Given the description of an element on the screen output the (x, y) to click on. 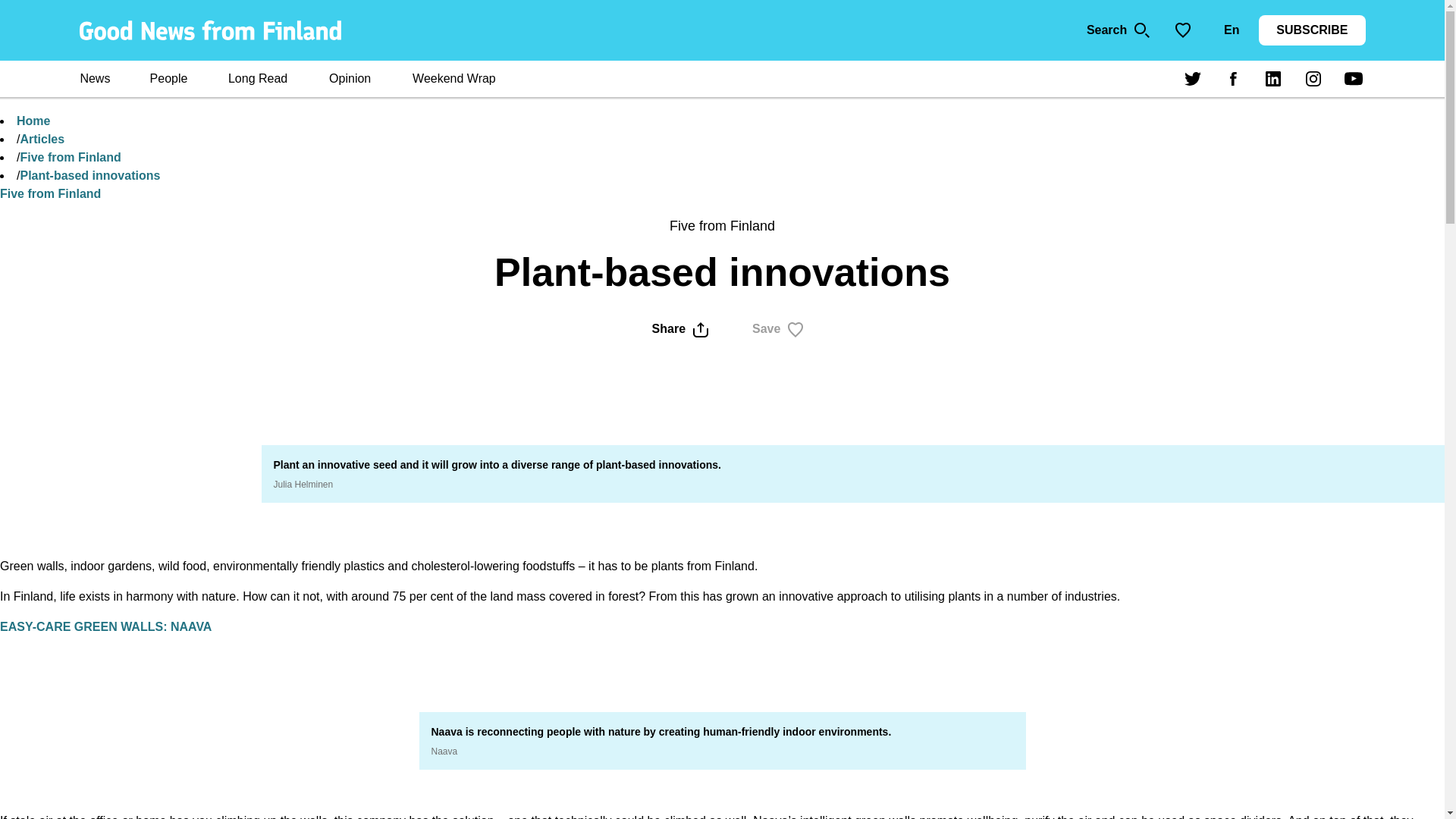
SUBSCRIBE (1312, 30)
Opinion (349, 79)
En (1230, 30)
Weekend Wrap (453, 79)
Home (32, 120)
Five from Finland (70, 156)
Long Read (258, 79)
Search (1118, 30)
People (167, 79)
Articles (42, 138)
